Given the description of an element on the screen output the (x, y) to click on. 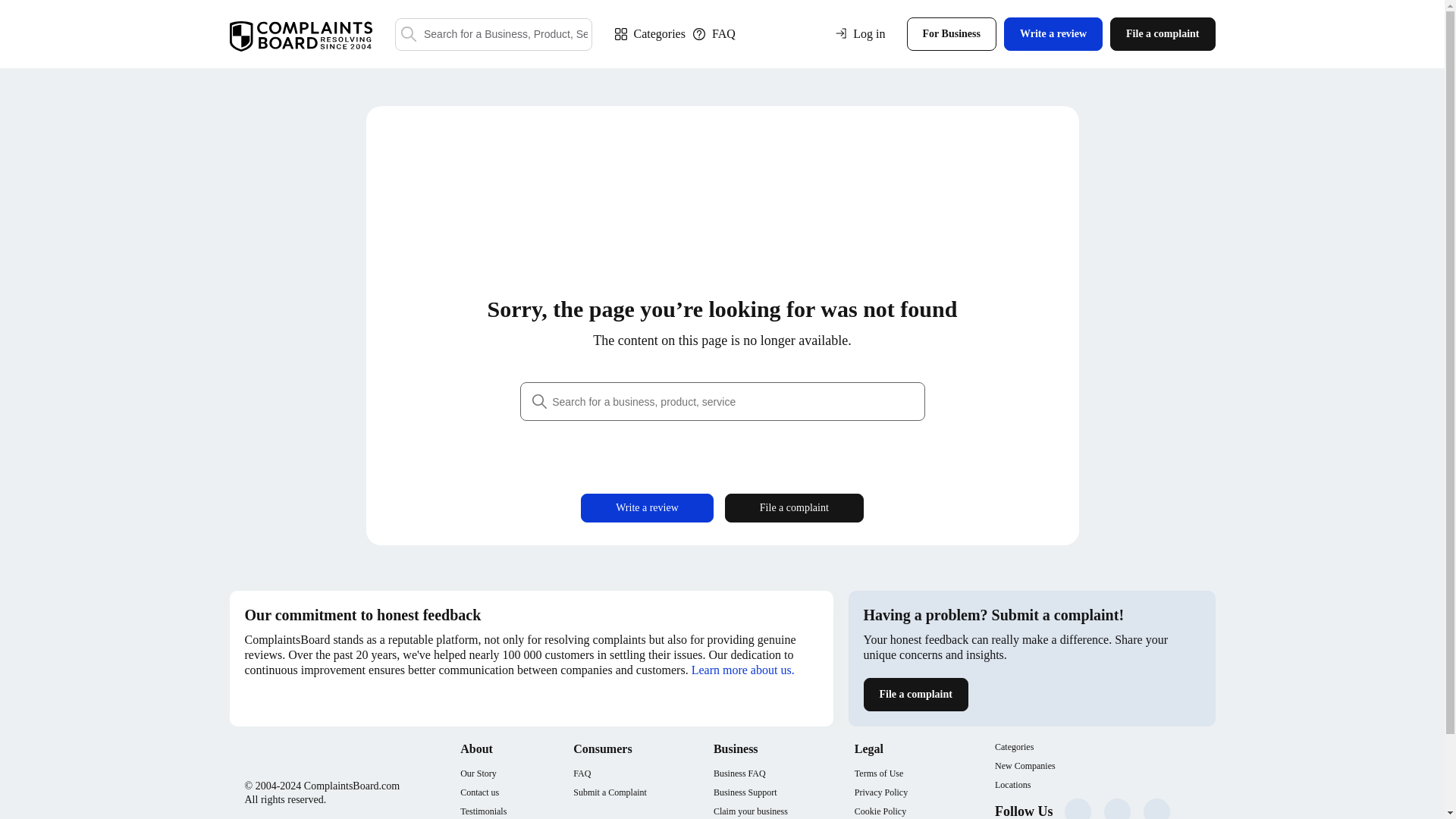
Locations (1012, 785)
X (1117, 808)
Learn more about us. (742, 669)
Our Story (483, 773)
File a complaint (794, 507)
Privacy Policy (880, 792)
File a complaint (915, 694)
Claim your business (750, 811)
Cookie Policy (880, 811)
Categories (649, 33)
